Given the description of an element on the screen output the (x, y) to click on. 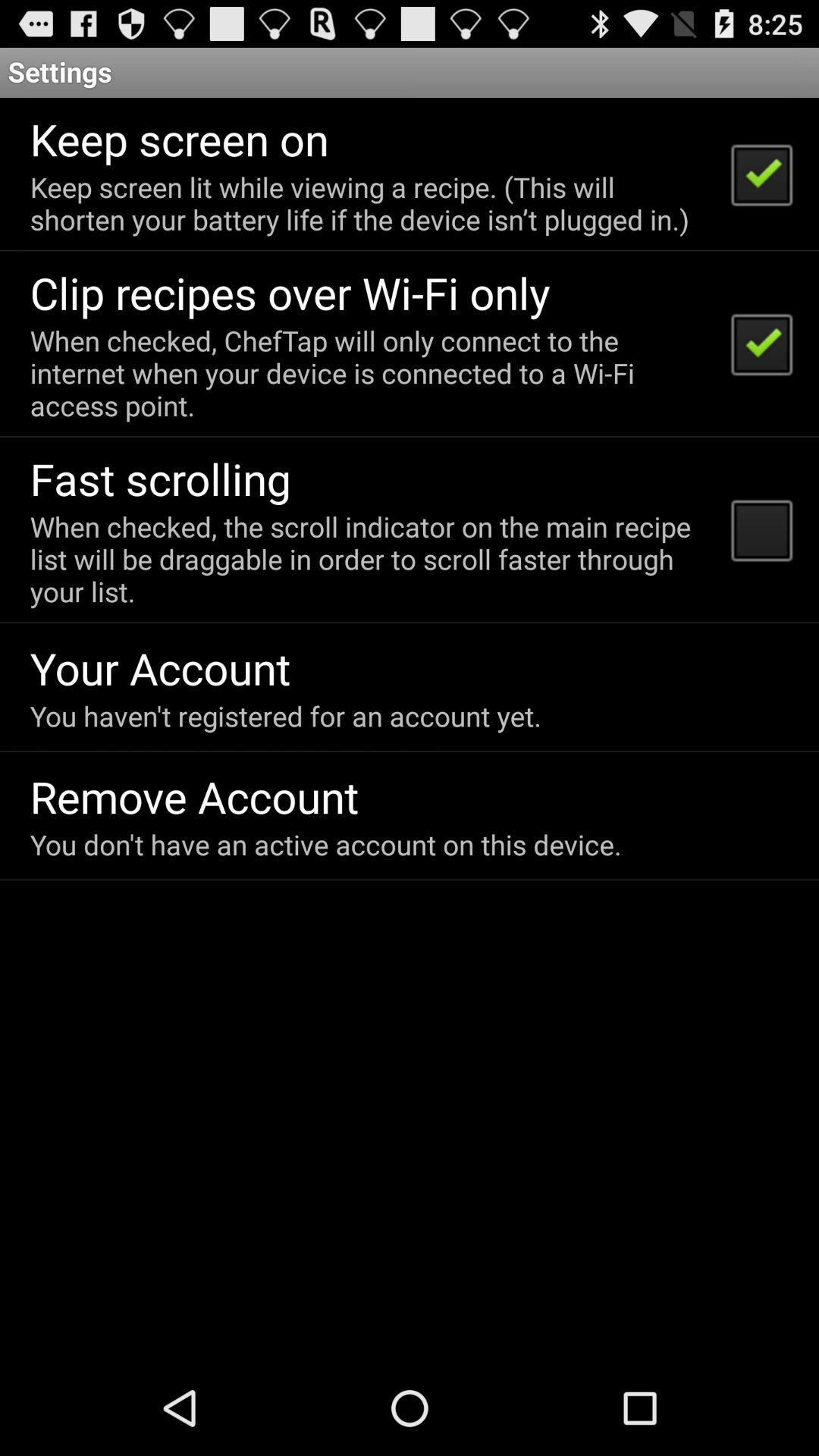
jump to the remove account icon (194, 796)
